Given the description of an element on the screen output the (x, y) to click on. 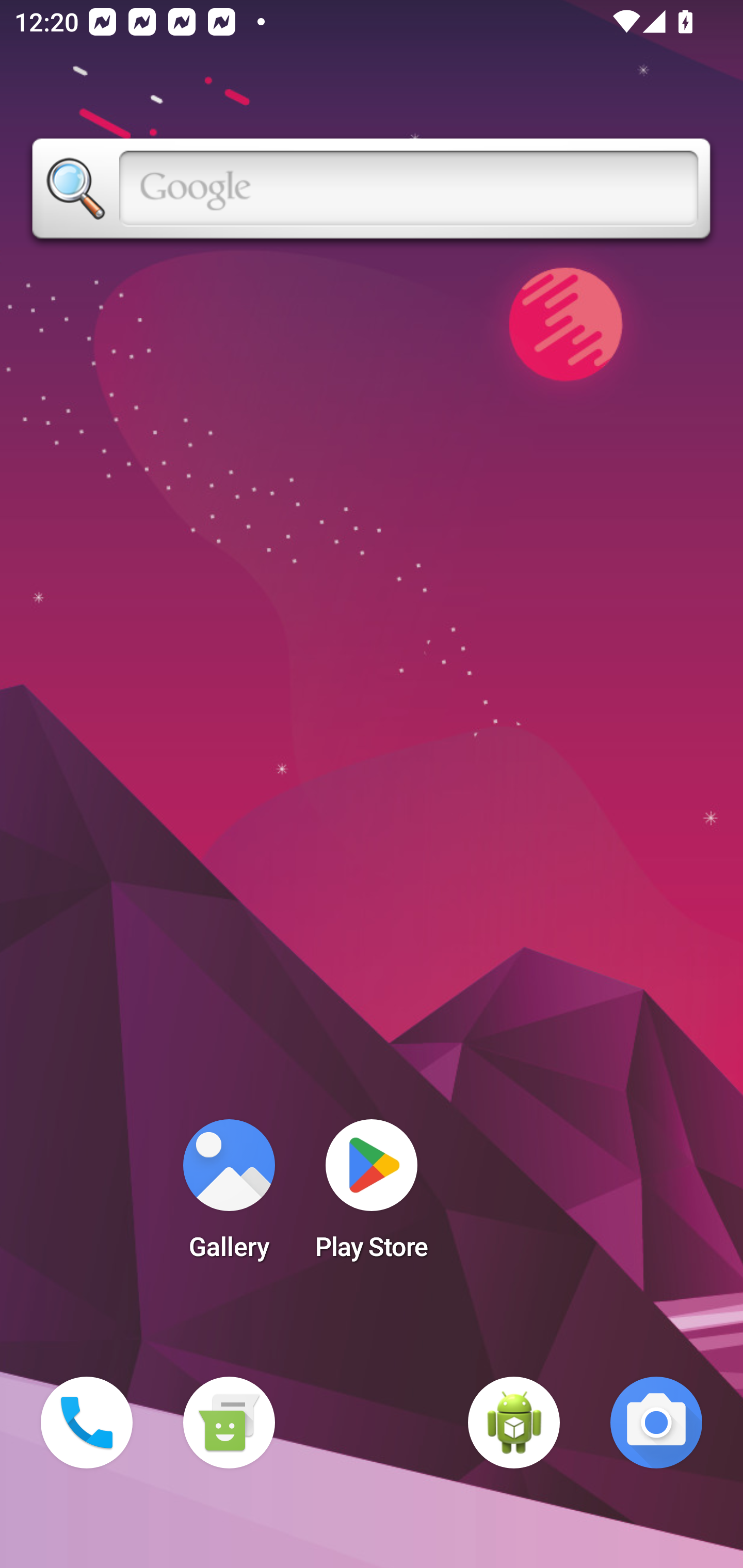
Gallery (228, 1195)
Play Store (371, 1195)
Phone (86, 1422)
Messaging (228, 1422)
WebView Browser Tester (513, 1422)
Camera (656, 1422)
